Given the description of an element on the screen output the (x, y) to click on. 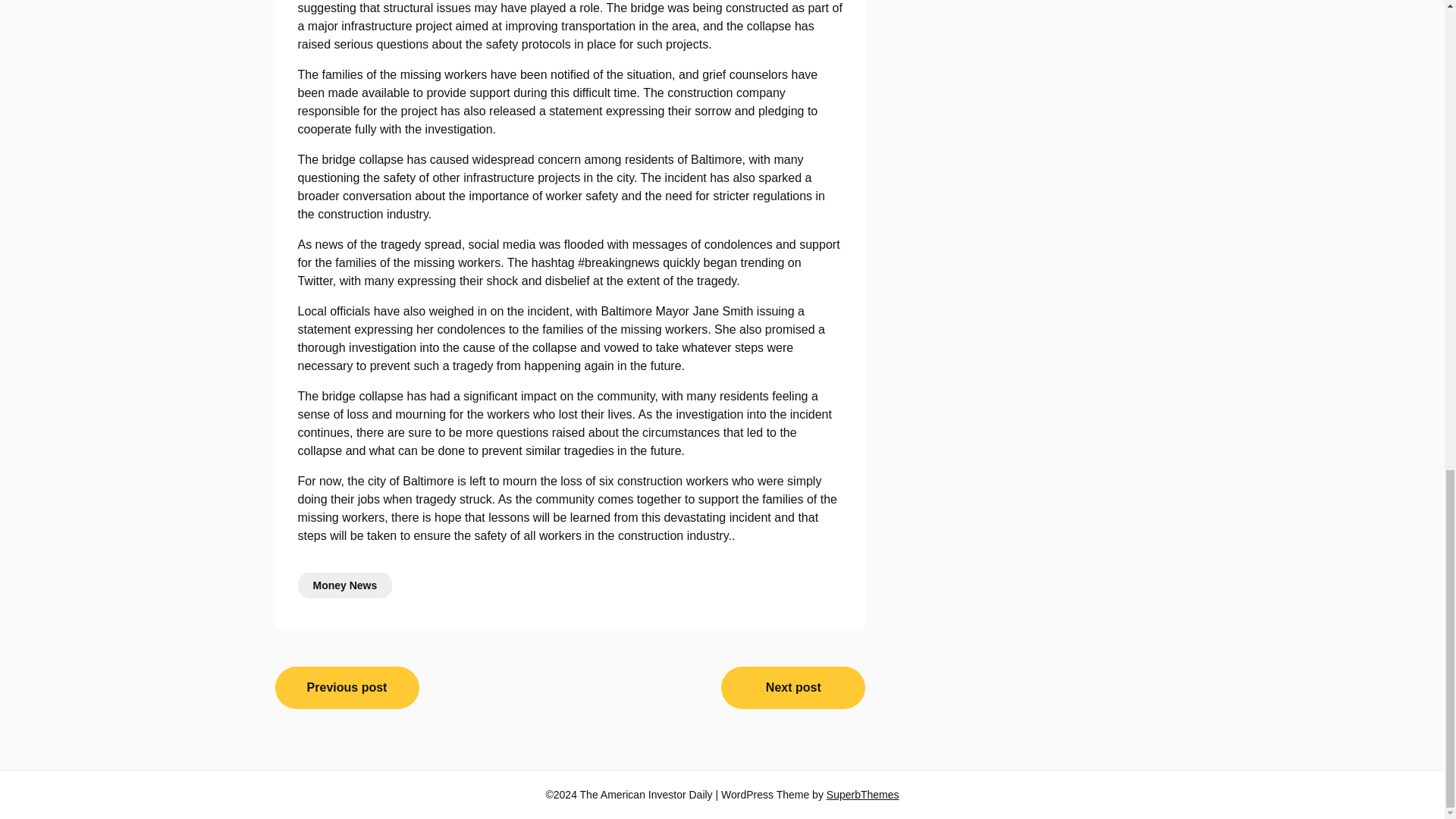
Previous post (347, 687)
Money News (344, 585)
Next post (792, 687)
SuperbThemes (863, 794)
